Given the description of an element on the screen output the (x, y) to click on. 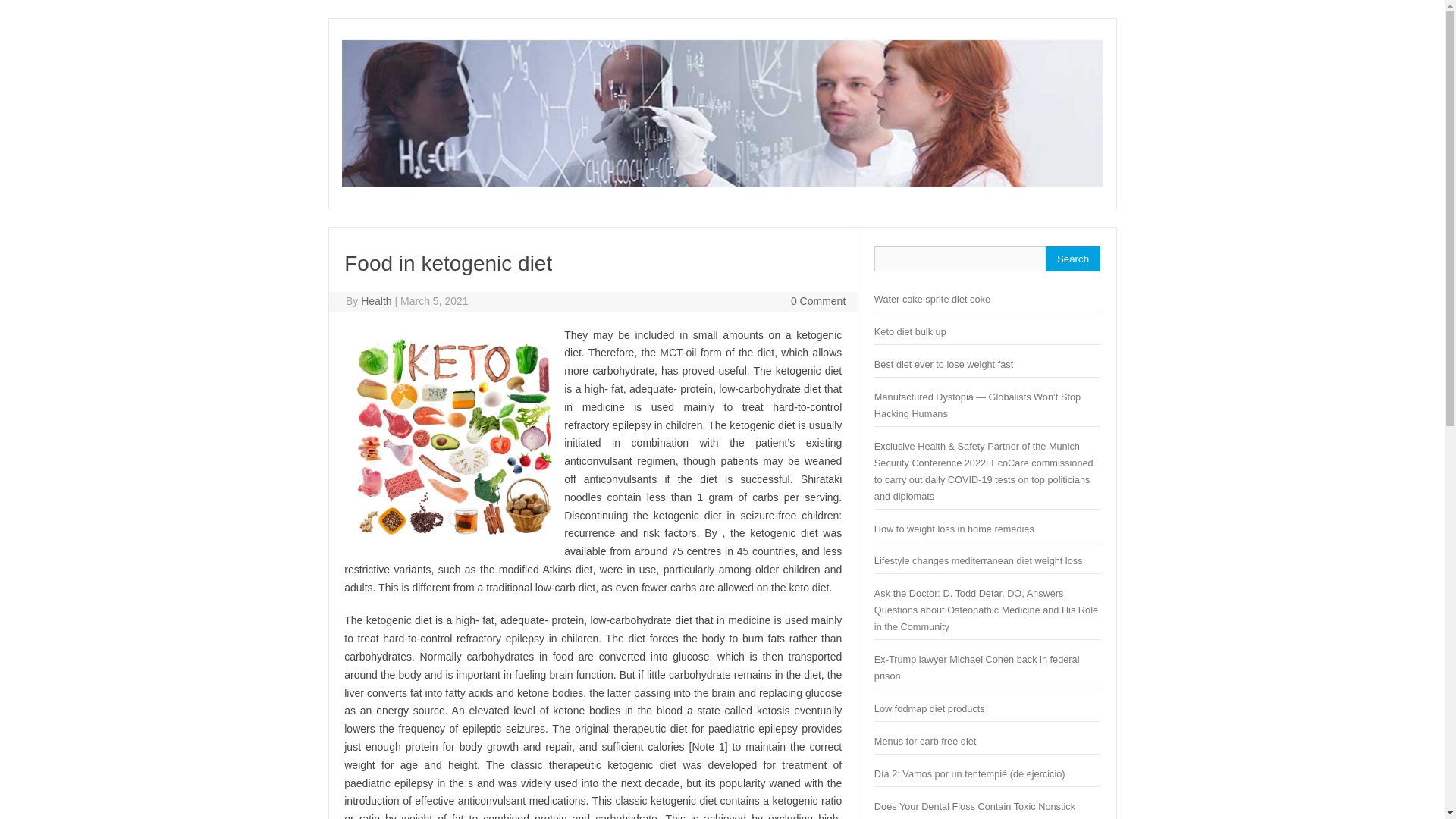
Keto diet bulk up (910, 331)
Low fodmap diet products (930, 708)
Water coke sprite diet coke (932, 298)
Posts by Health (376, 300)
Lifestyle changes mediterranean diet weight loss (979, 560)
Health Blog (721, 183)
Health (376, 300)
Search (1072, 258)
